Given the description of an element on the screen output the (x, y) to click on. 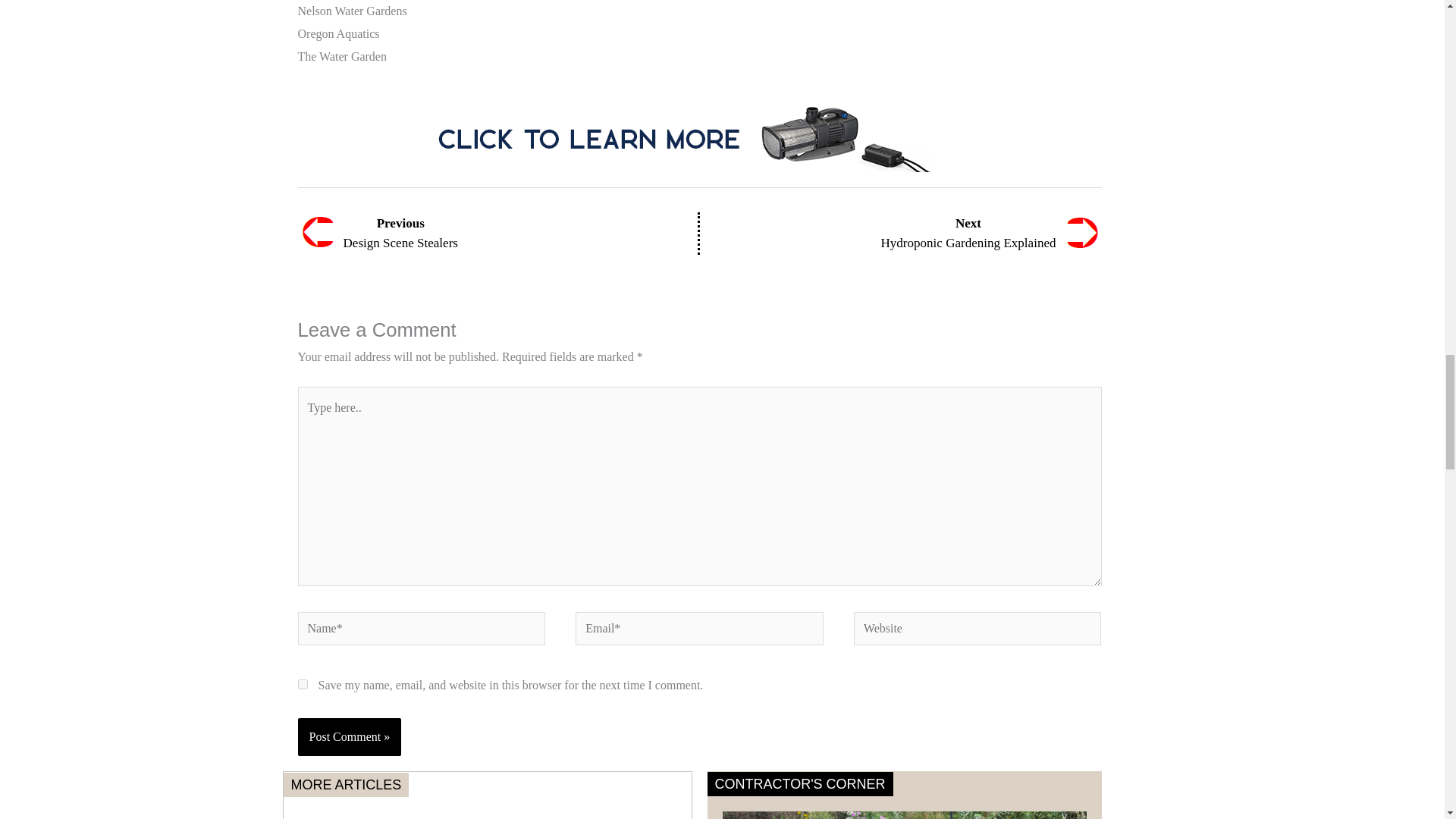
yes (302, 684)
